Given the description of an element on the screen output the (x, y) to click on. 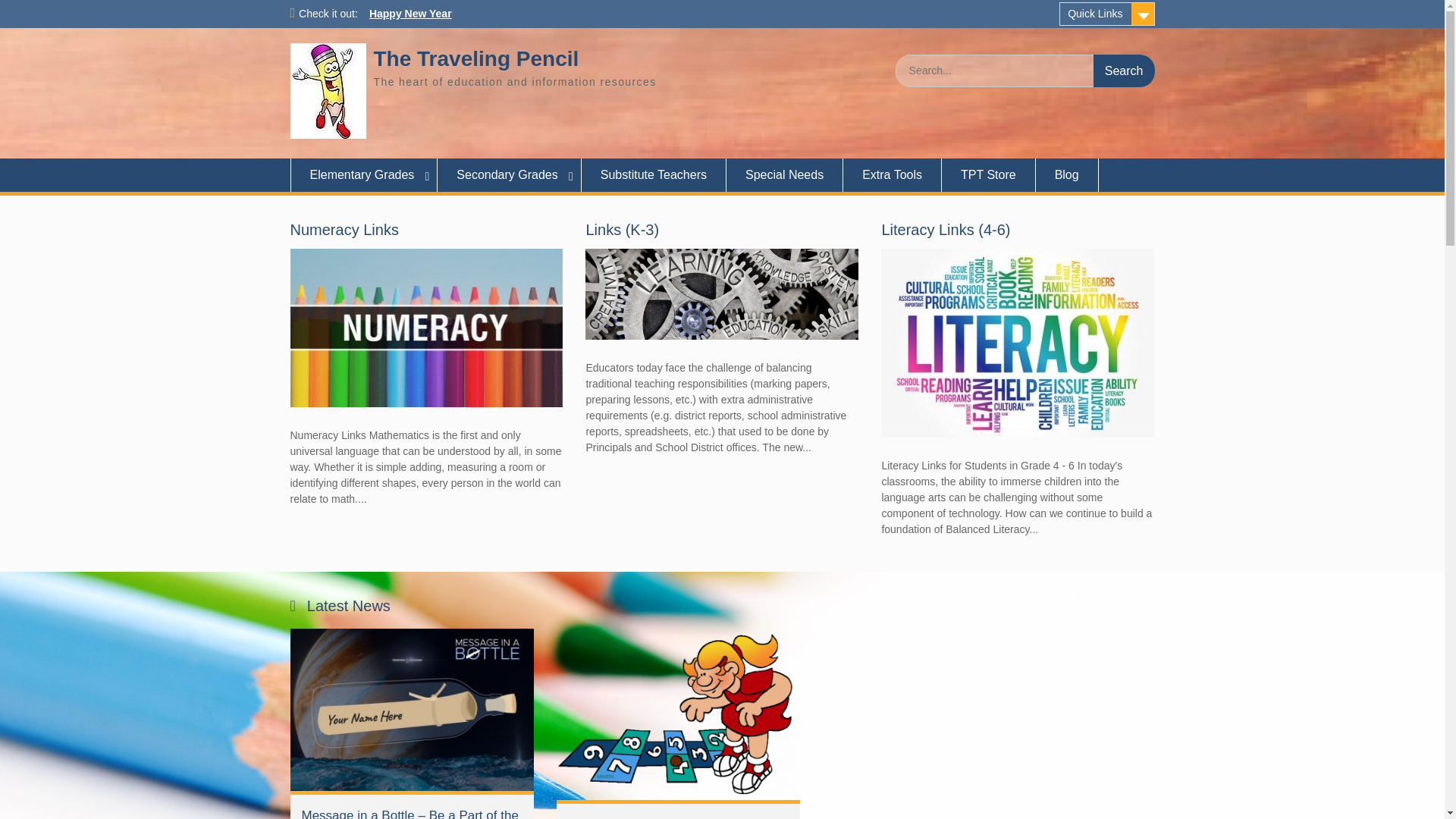
The Traveling Pencil (475, 58)
Elementary Grades (363, 174)
Search (1123, 70)
Search (1123, 70)
Search (1123, 70)
Quick Links (1106, 13)
Secondary Grades (509, 174)
Search for: (1024, 70)
Happy New Year (410, 13)
